Given the description of an element on the screen output the (x, y) to click on. 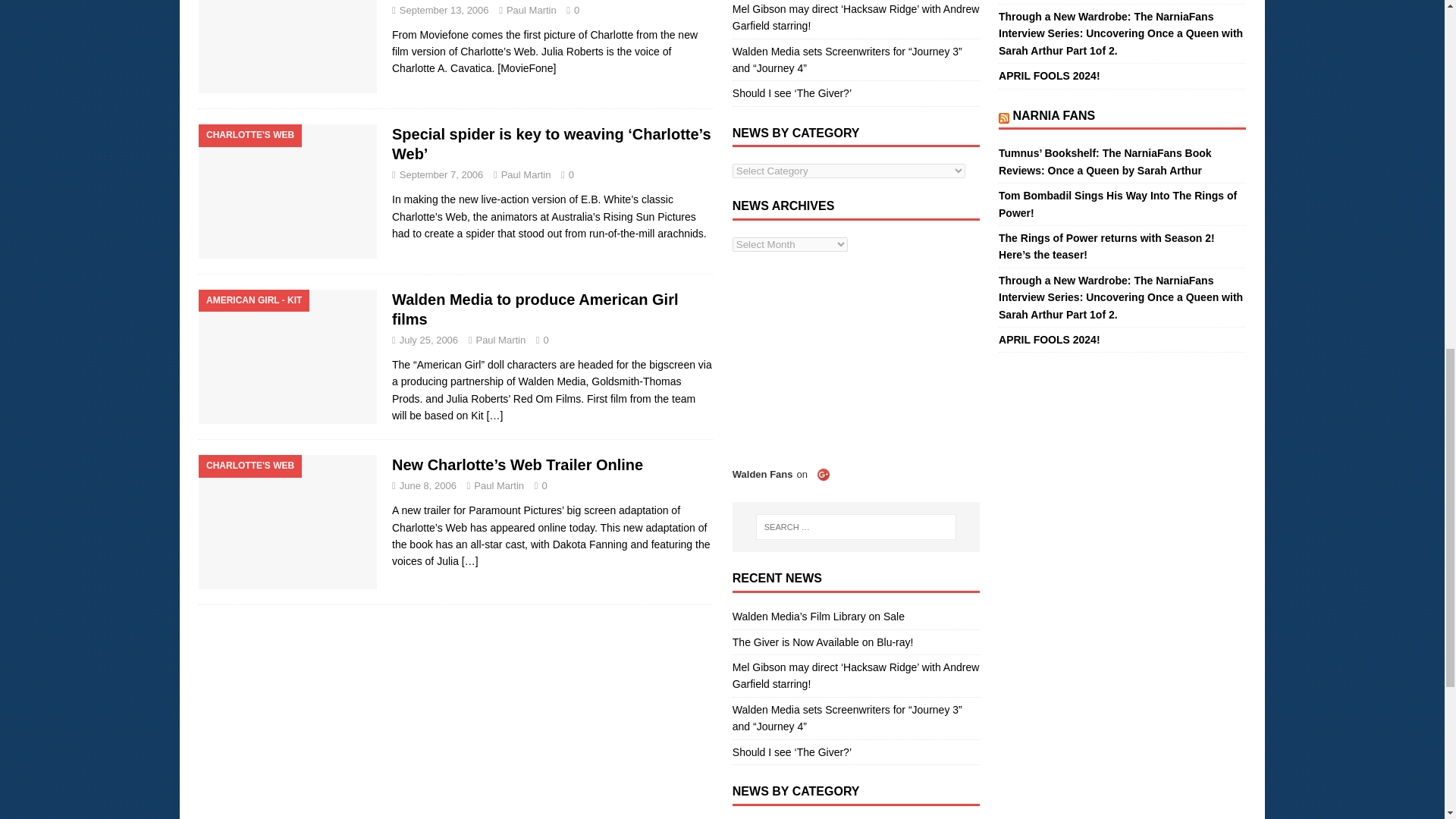
Walden Media to produce American Girl films (494, 415)
Walden Media to produce American Girl films (534, 309)
